Given the description of an element on the screen output the (x, y) to click on. 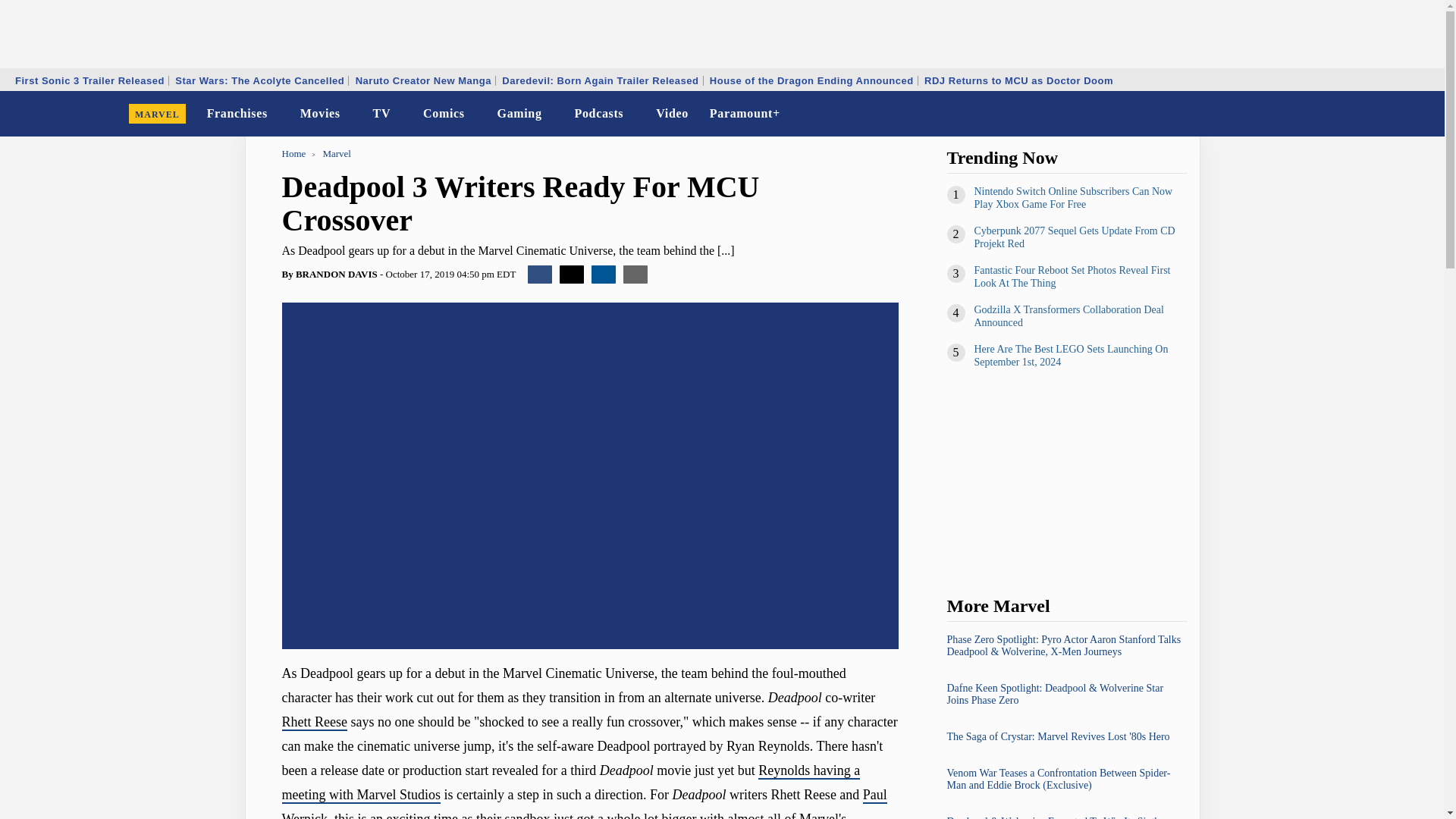
Star Wars: The Acolyte Cancelled (259, 80)
Naruto Creator New Manga (423, 80)
Dark Mode (1394, 113)
Comics (443, 113)
House of the Dragon Ending Announced (811, 80)
Daredevil: Born Again Trailer Released (599, 80)
Search (1422, 114)
RDJ Returns to MCU as Doctor Doom (1018, 80)
First Sonic 3 Trailer Released (89, 80)
Movies (320, 113)
